Given the description of an element on the screen output the (x, y) to click on. 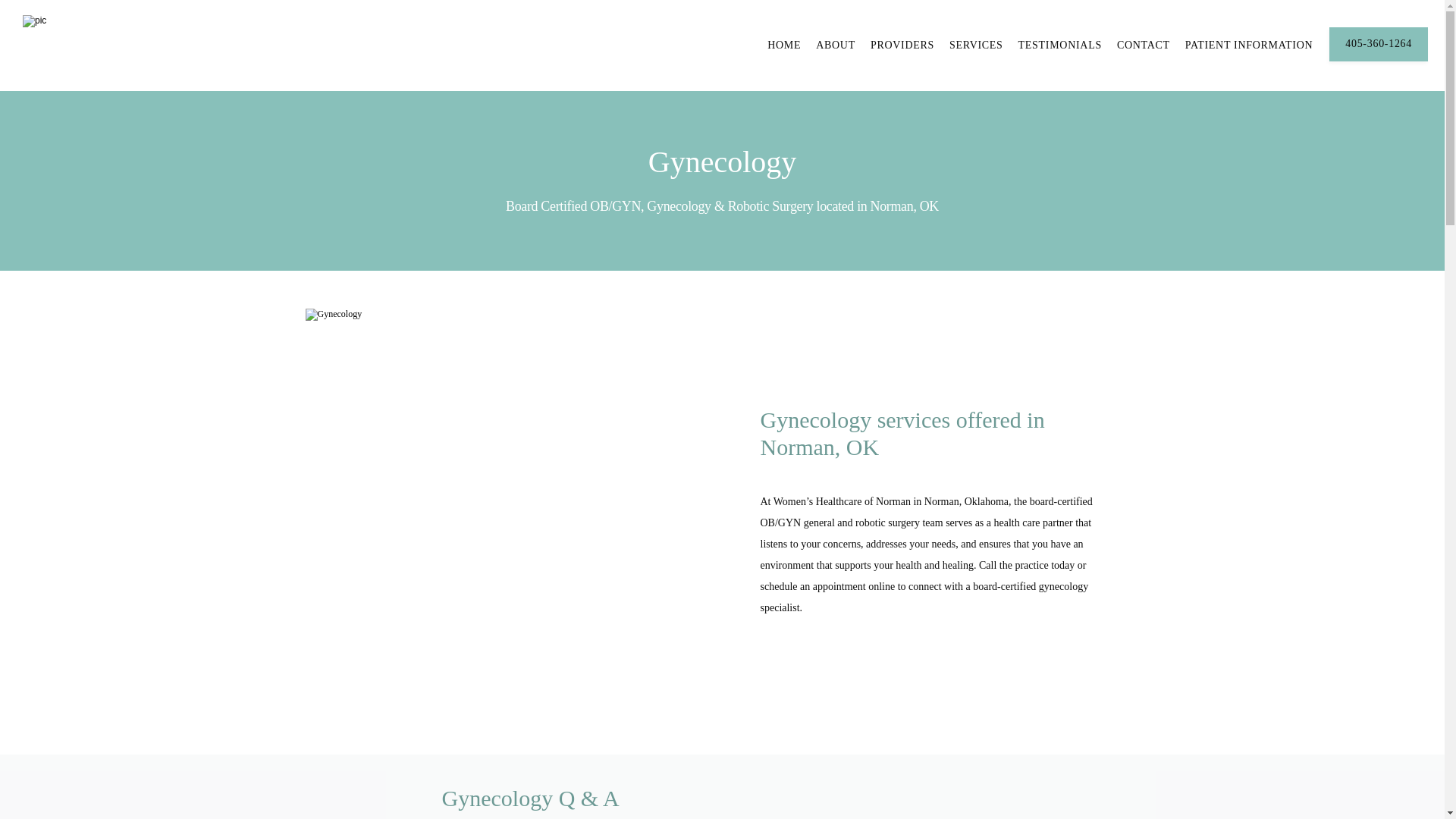
TESTIMONIALS (1059, 44)
PROVIDERS (902, 44)
405-360-1264 (1378, 59)
SERVICES (976, 44)
ABOUT (835, 44)
PATIENT INFORMATION (1249, 44)
HOME (783, 44)
CONTACT (1143, 44)
